Given the description of an element on the screen output the (x, y) to click on. 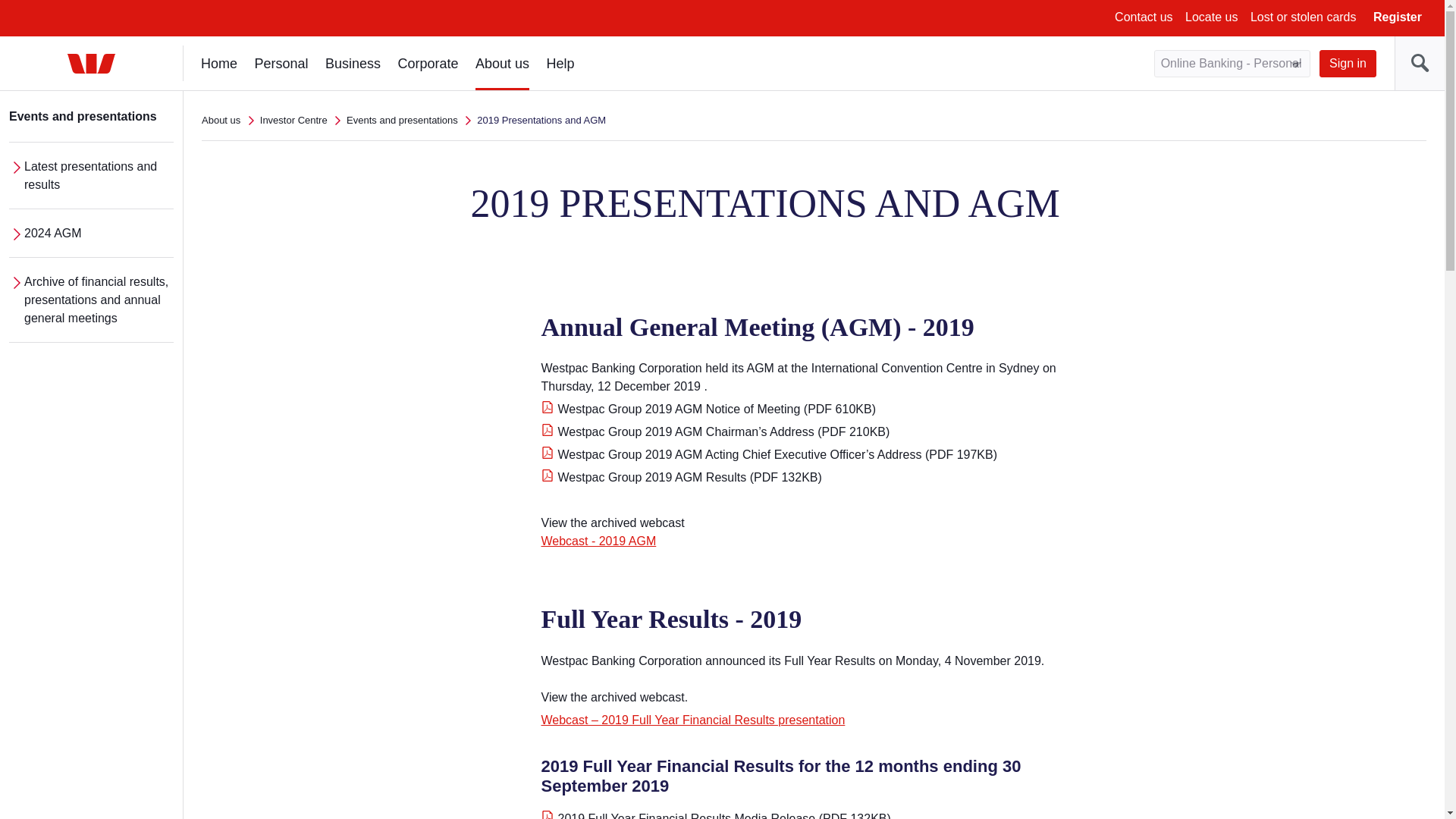
Personal (280, 63)
Pdf File (547, 407)
Pdf File (547, 429)
Westpac logo (91, 63)
Sign in (1347, 62)
Pdf File (547, 452)
Register (1397, 17)
Pdf File (547, 475)
Locate us (1211, 16)
Pdf File (547, 814)
Search (1419, 63)
Lost or stolen cards (1303, 16)
Contact us (1143, 16)
